Given the description of an element on the screen output the (x, y) to click on. 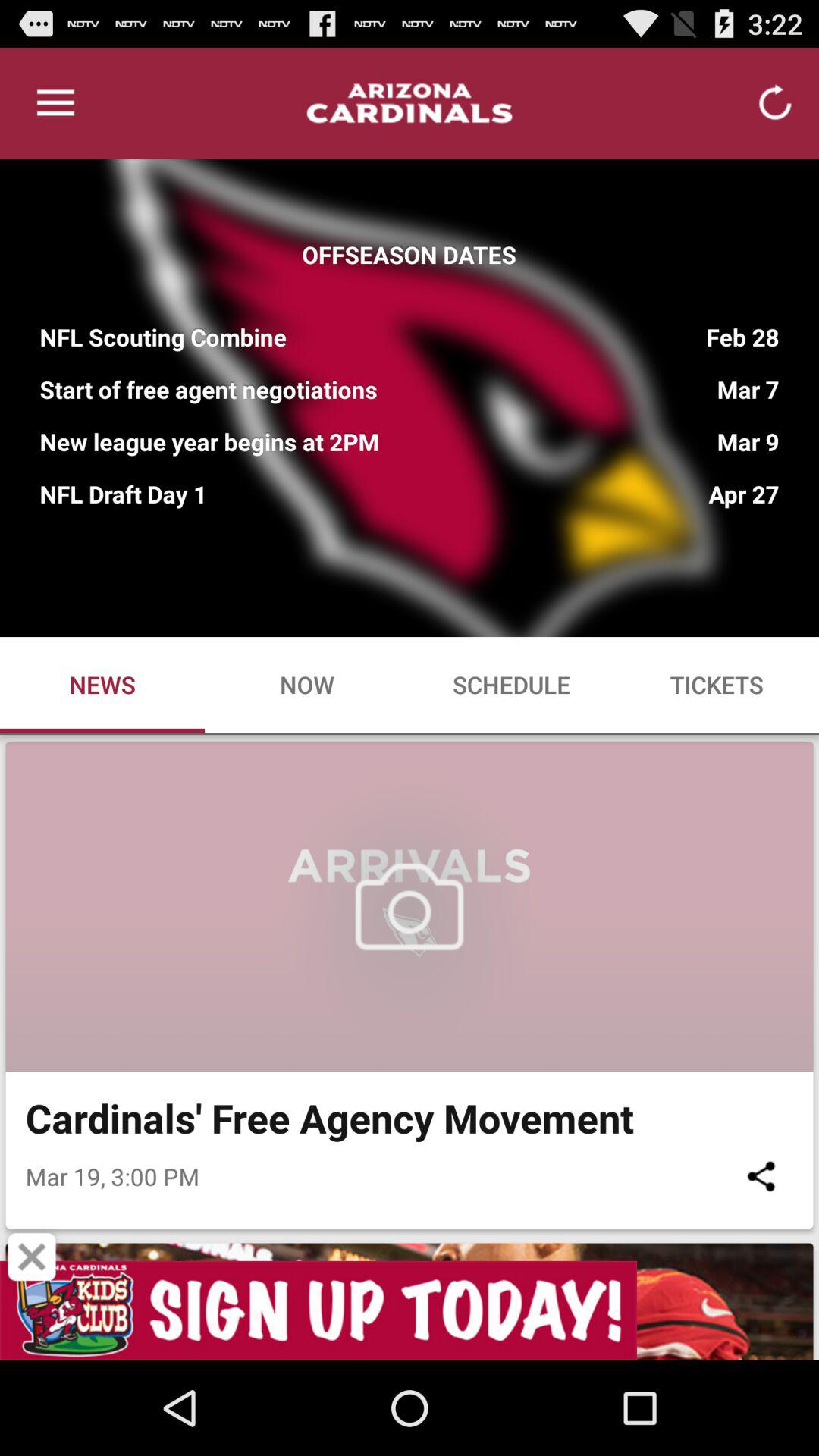
go do coulesd (31, 1256)
